Given the description of an element on the screen output the (x, y) to click on. 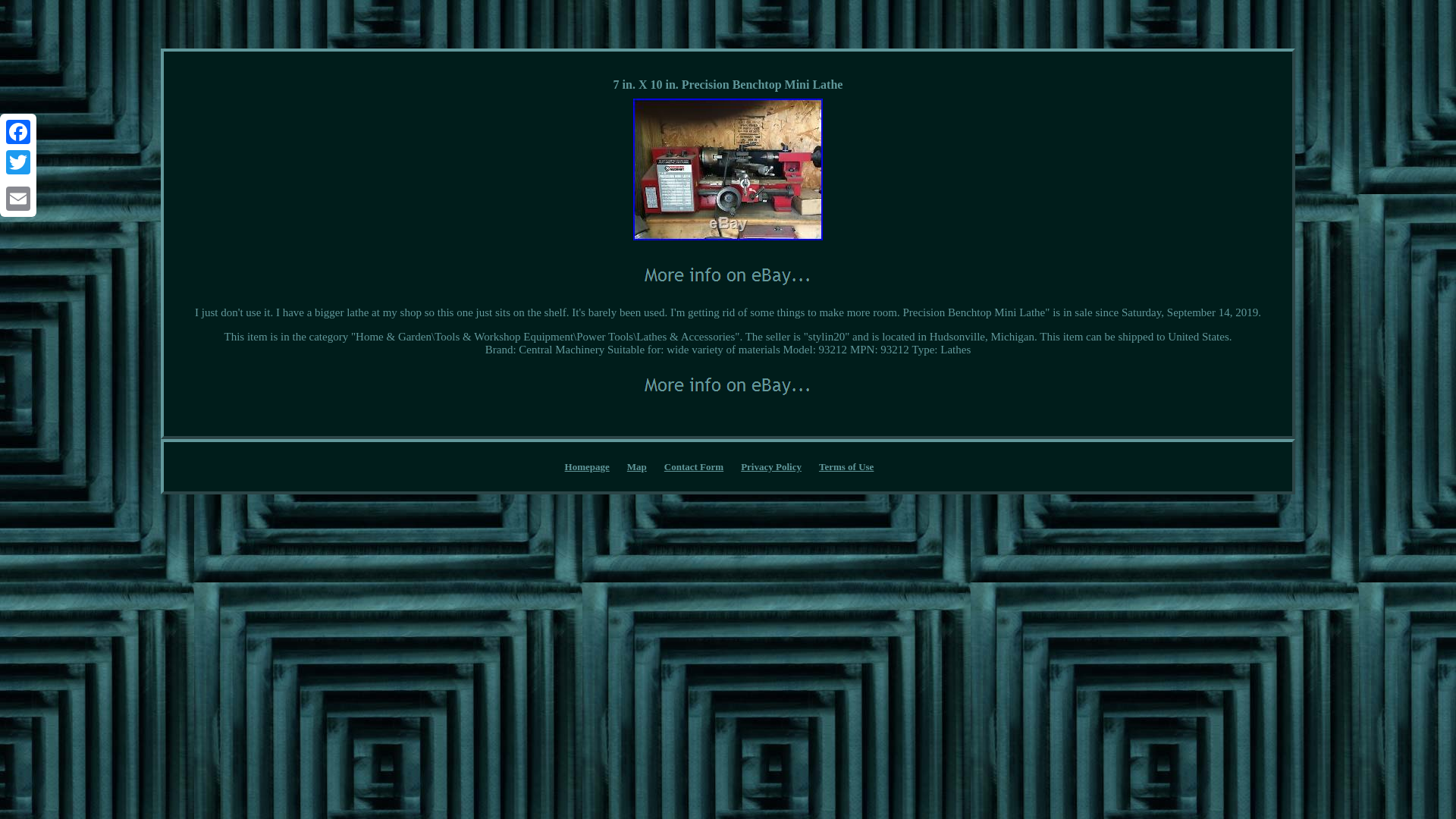
7 in. X 10 in. Precision Benchtop Mini Lathe (727, 169)
Facebook (17, 132)
7 in. X 10 in. Precision Benchtop Mini Lathe (727, 275)
Email (17, 198)
7 in. X 10 in. Precision Benchtop Mini Lathe (727, 385)
Twitter (17, 162)
